Given the description of an element on the screen output the (x, y) to click on. 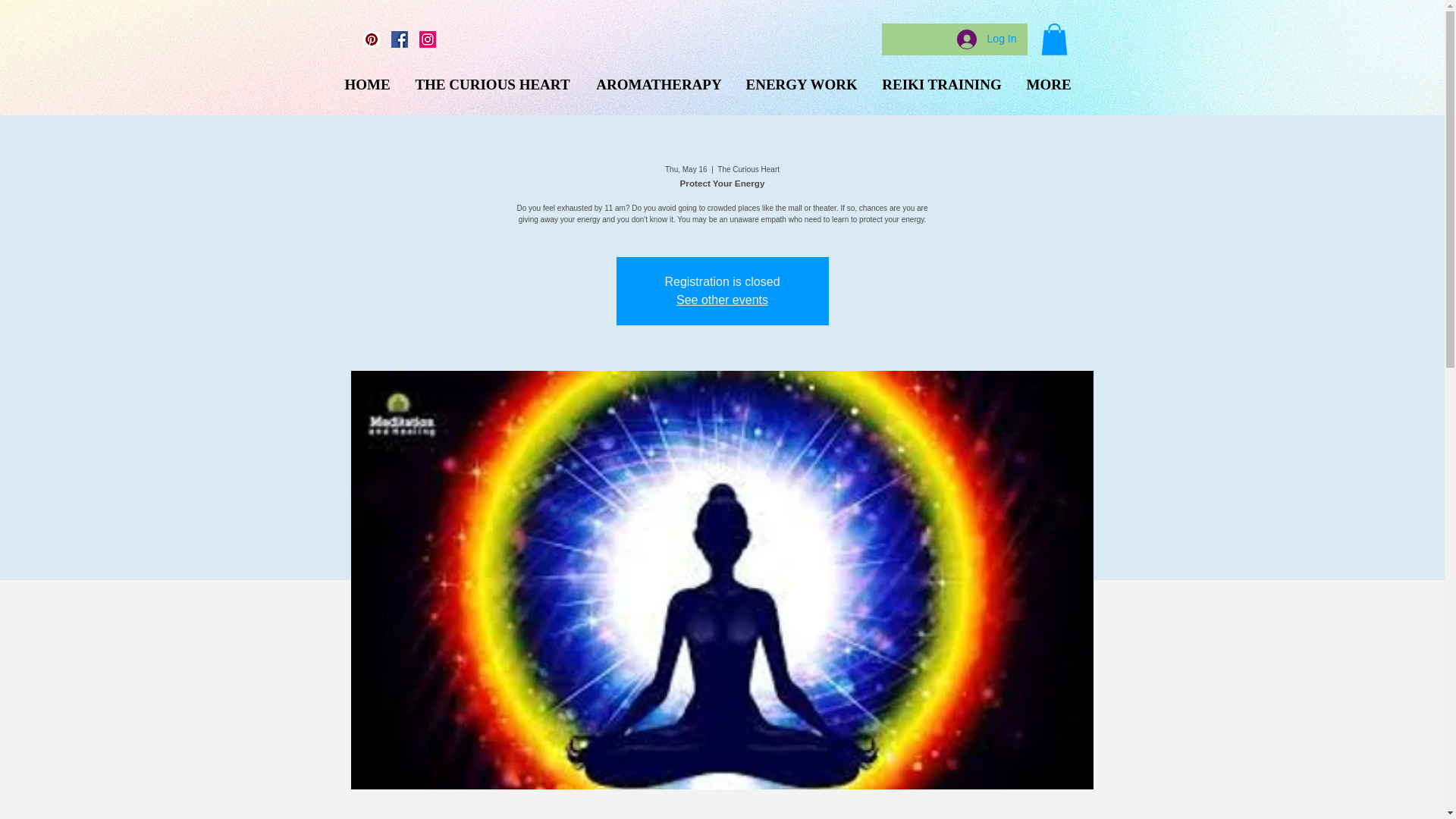
Log In (986, 39)
ENERGY WORK (801, 84)
THE CURIOUS HEART (491, 84)
AROMATHERAPY (658, 84)
See other events (722, 299)
HOME (367, 84)
REIKI TRAINING (941, 84)
